Given the description of an element on the screen output the (x, y) to click on. 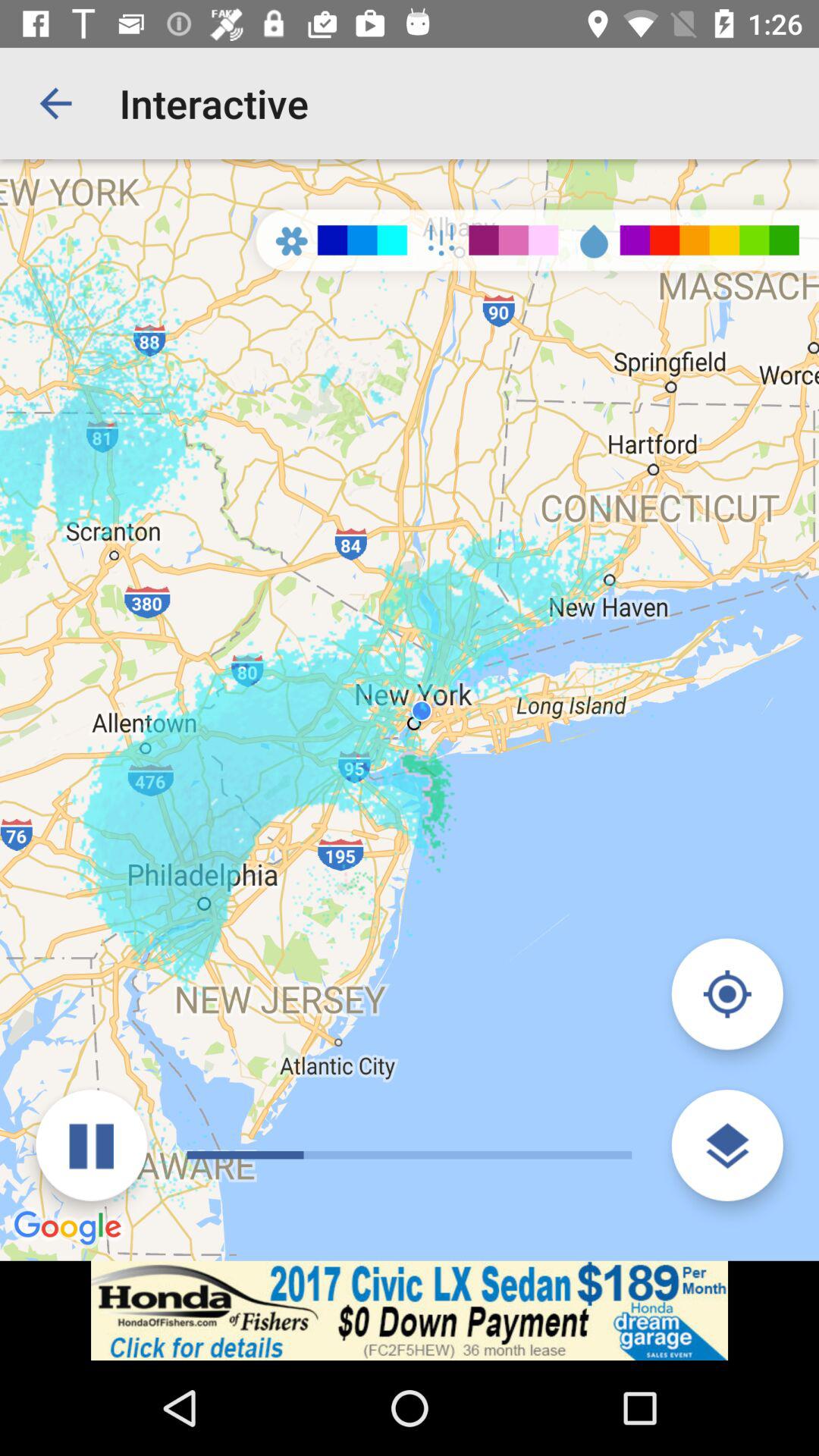
show map layers (727, 1145)
